Given the description of an element on the screen output the (x, y) to click on. 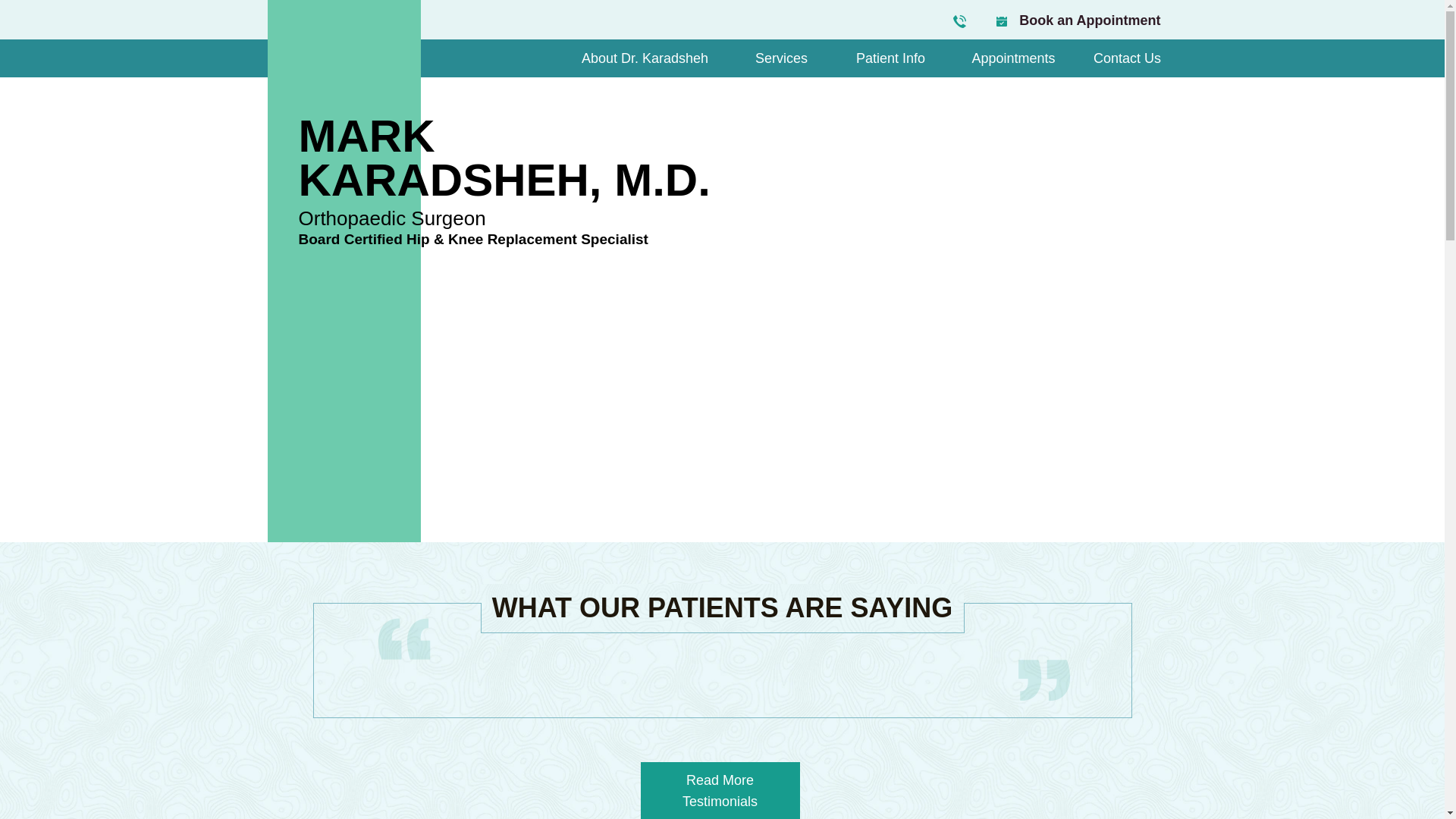
Appointments (1013, 57)
About Dr. Karadsheh (643, 57)
Book an Appointment (1089, 20)
Patient Info (504, 157)
Services (890, 57)
Contact Us (780, 57)
